Given the description of an element on the screen output the (x, y) to click on. 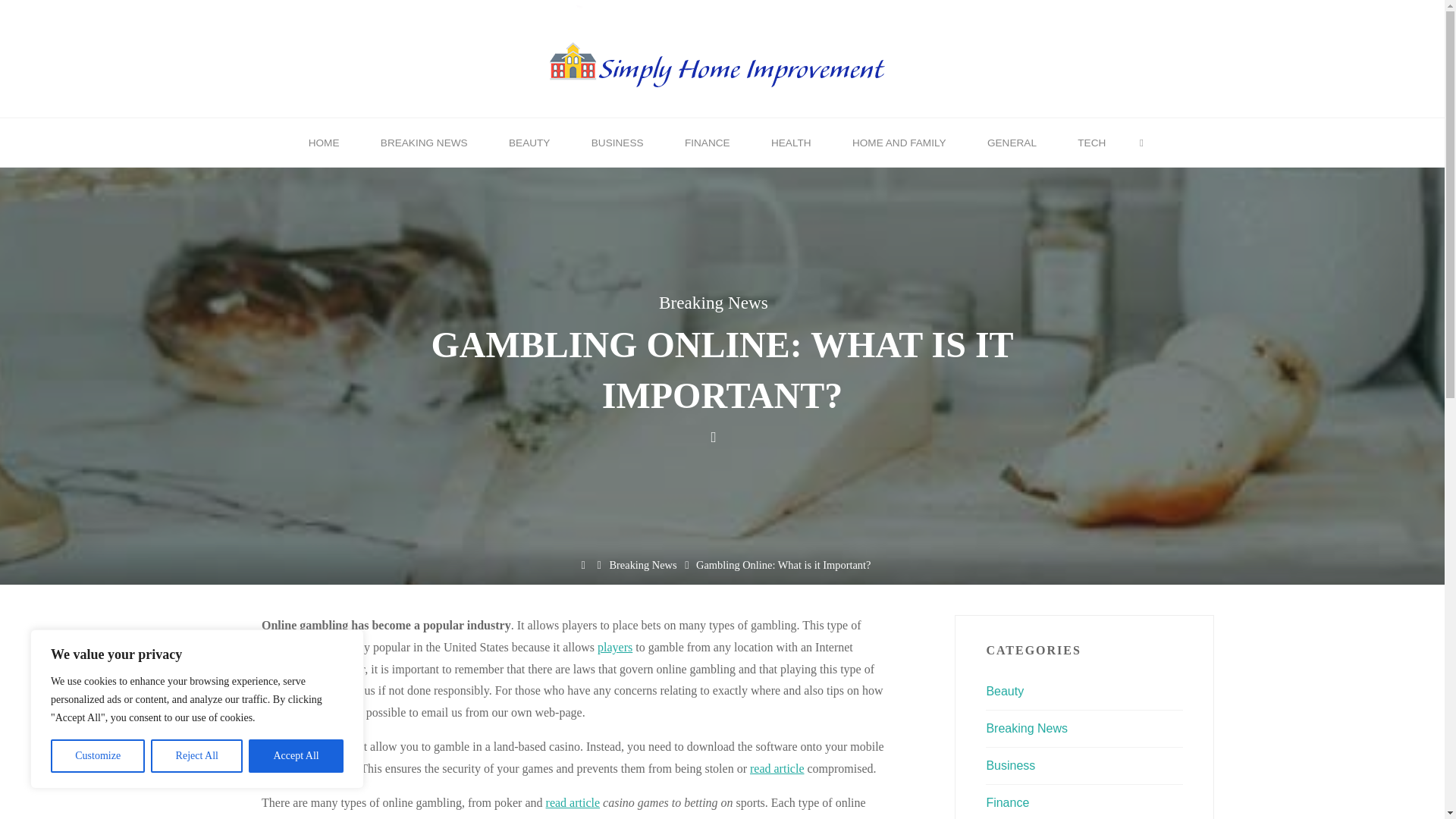
HEALTH (791, 142)
BUSINESS (616, 142)
Simply Home Improvement (721, 56)
HOME (323, 142)
Home (582, 564)
Customize (97, 756)
Accept All (295, 756)
GENERAL (1011, 142)
BREAKING NEWS (423, 142)
FINANCE (707, 142)
